Given the description of an element on the screen output the (x, y) to click on. 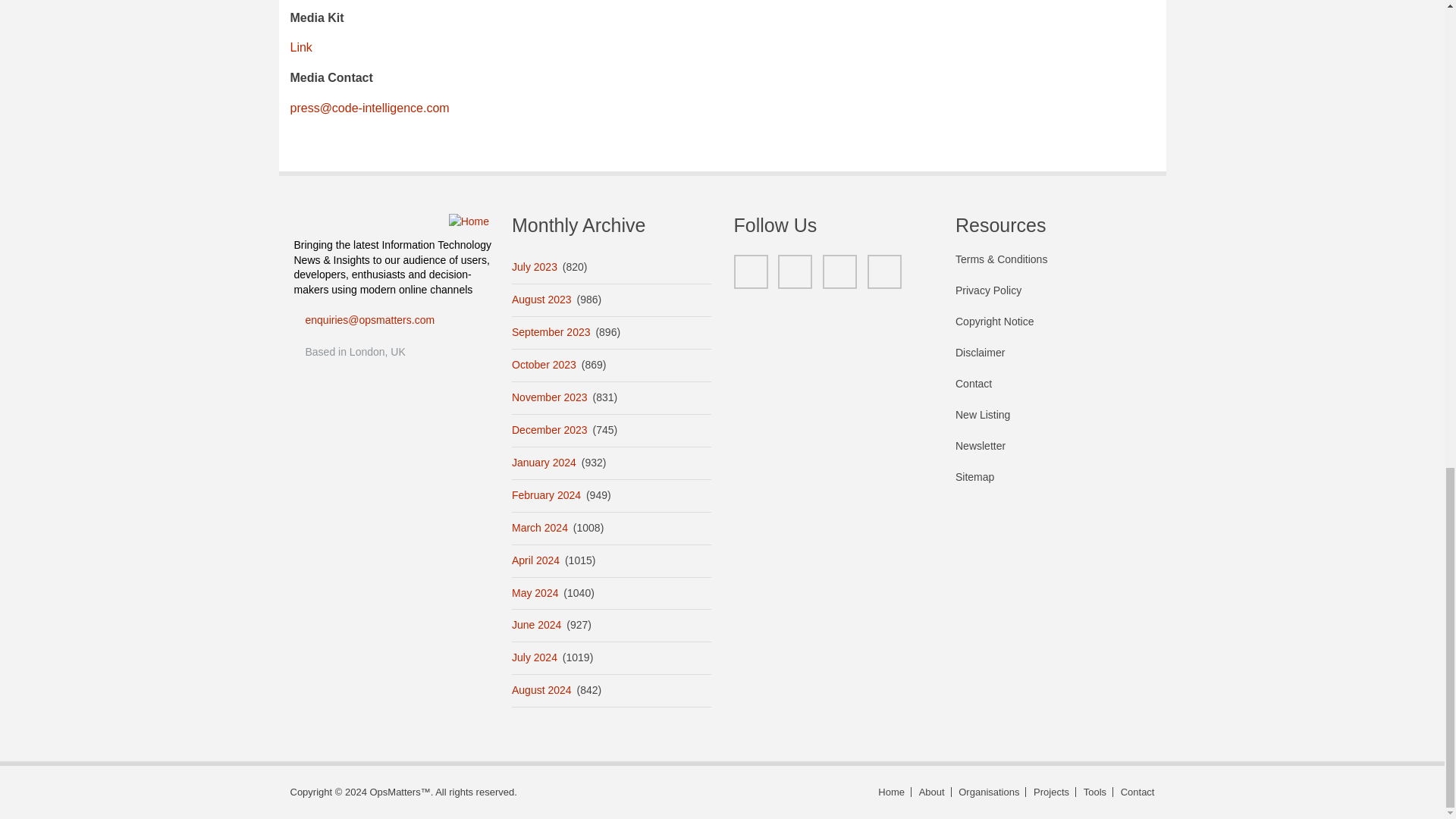
Home (468, 221)
Subscribe to our newsletter (1054, 453)
Contact us (1135, 791)
Takes you back to the homepage (892, 791)
